Given the description of an element on the screen output the (x, y) to click on. 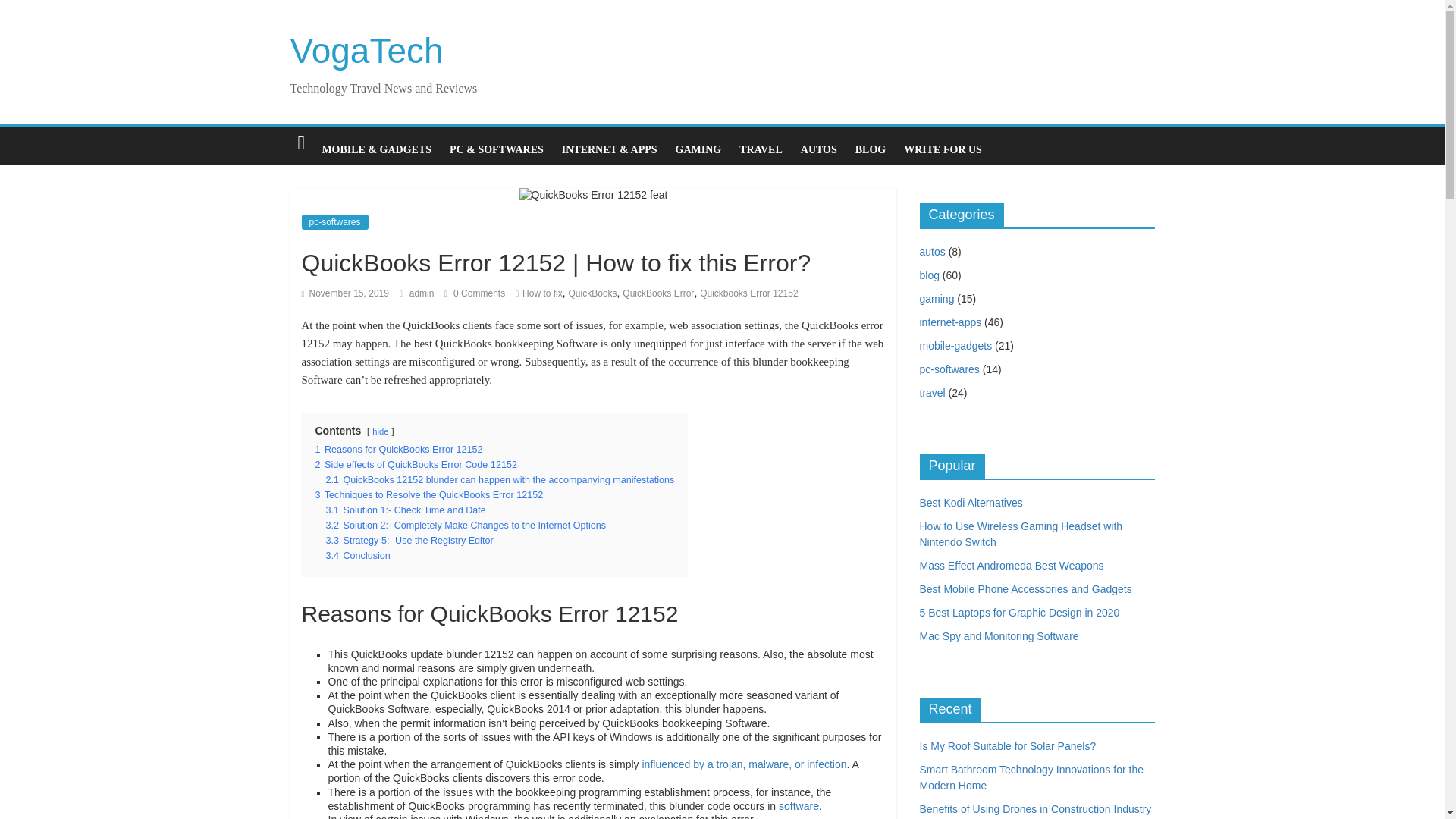
admin (422, 293)
TRAVEL (761, 150)
WRITE FOR US (943, 150)
QuickBooks (593, 293)
3.1 Solution 1:- Check Time and Date (406, 510)
AUTOS (818, 150)
software (798, 806)
hide (380, 430)
